Given the description of an element on the screen output the (x, y) to click on. 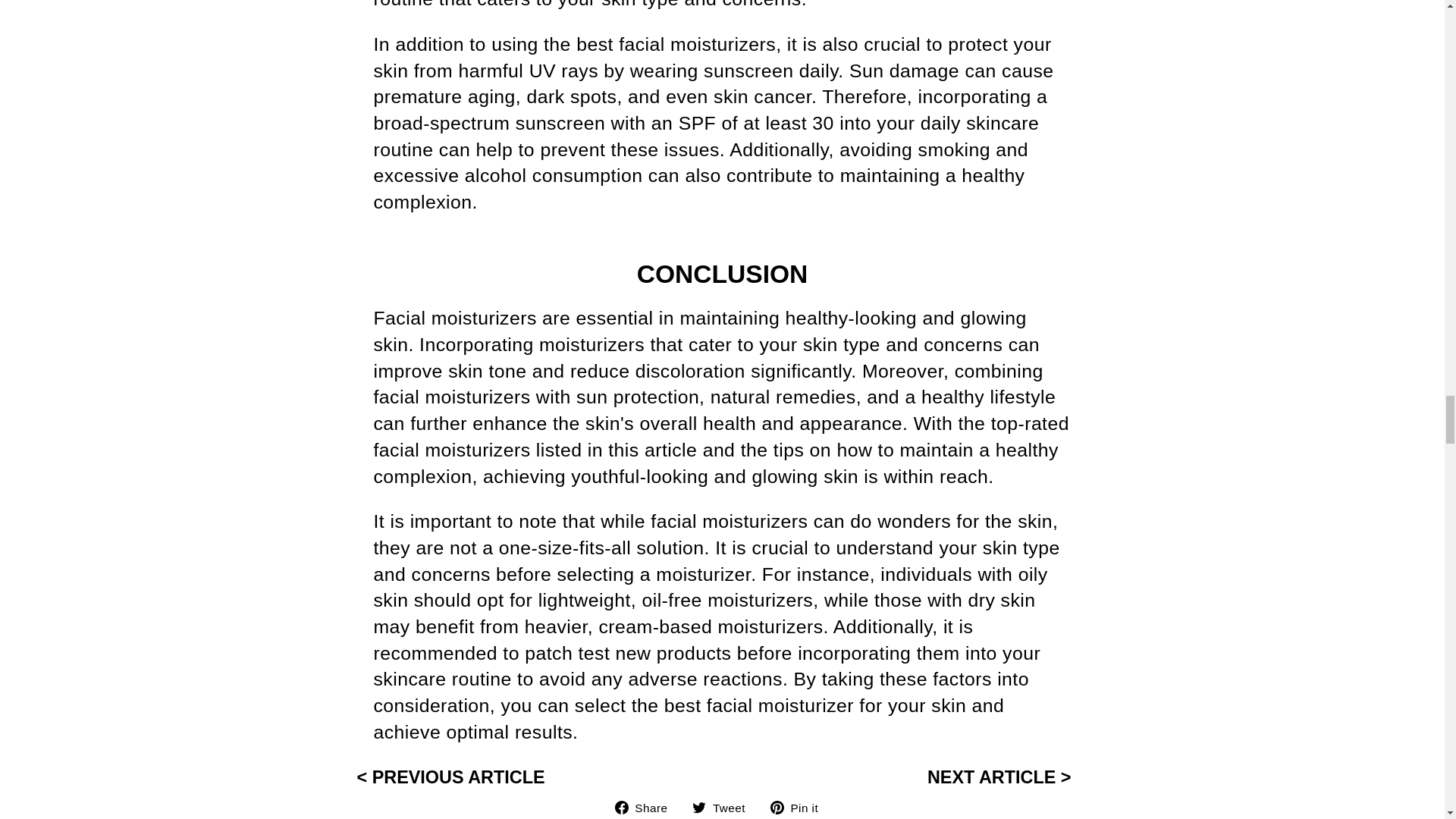
Pin on Pinterest (799, 806)
Tweet on Twitter (725, 806)
Share on Facebook (646, 806)
